Given the description of an element on the screen output the (x, y) to click on. 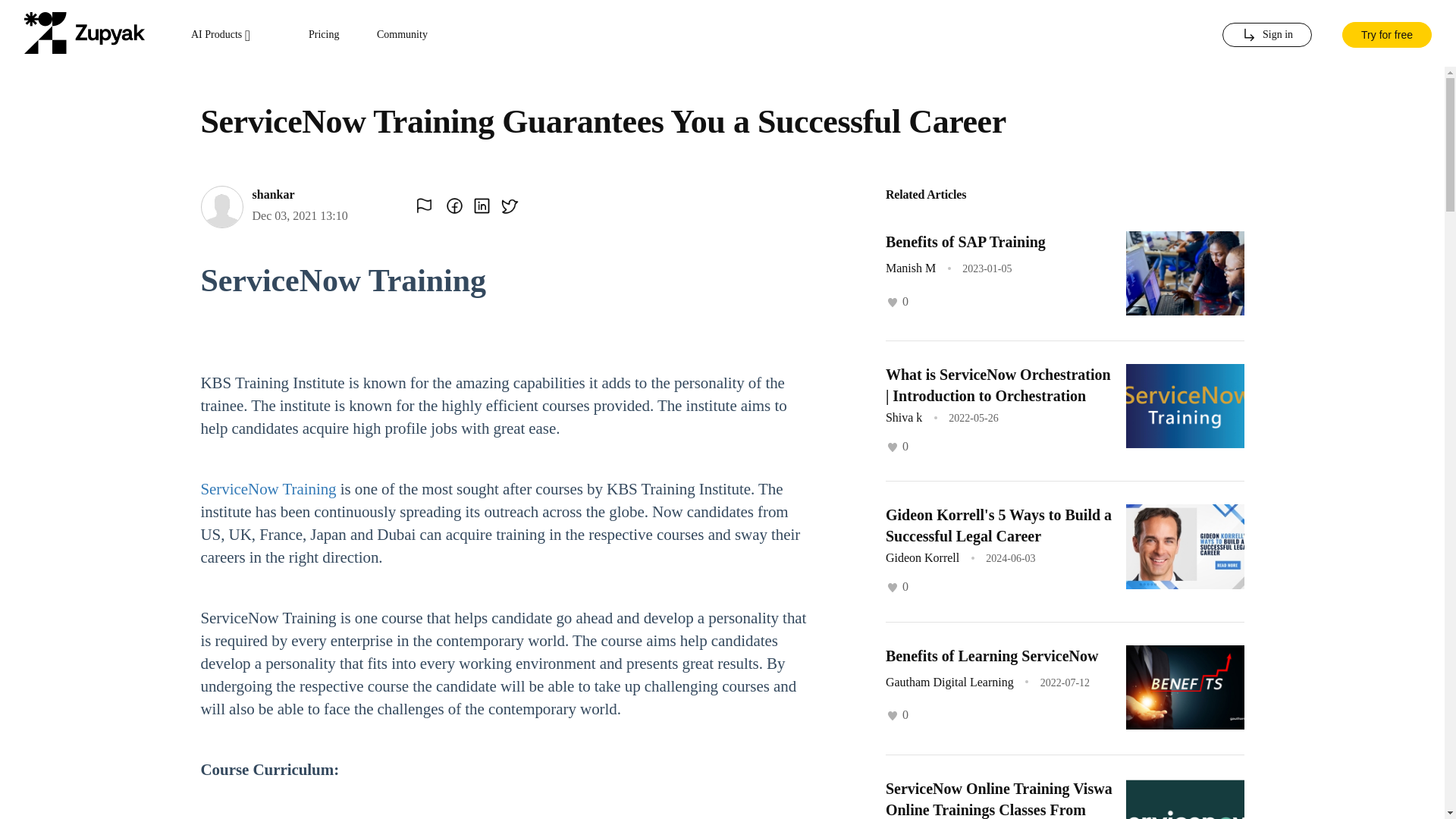
Try for free (1386, 33)
ServiceNow Training (268, 488)
Benefits of SAP Training (965, 241)
Benefits of SAP Training  (965, 241)
Pricing (323, 34)
Benefits of Learning ServiceNow (992, 655)
Gideon Korrell's 5 Ways to Build a Successful Legal Career (998, 525)
Community (402, 34)
Benefits of Learning ServiceNow (992, 655)
